Given the description of an element on the screen output the (x, y) to click on. 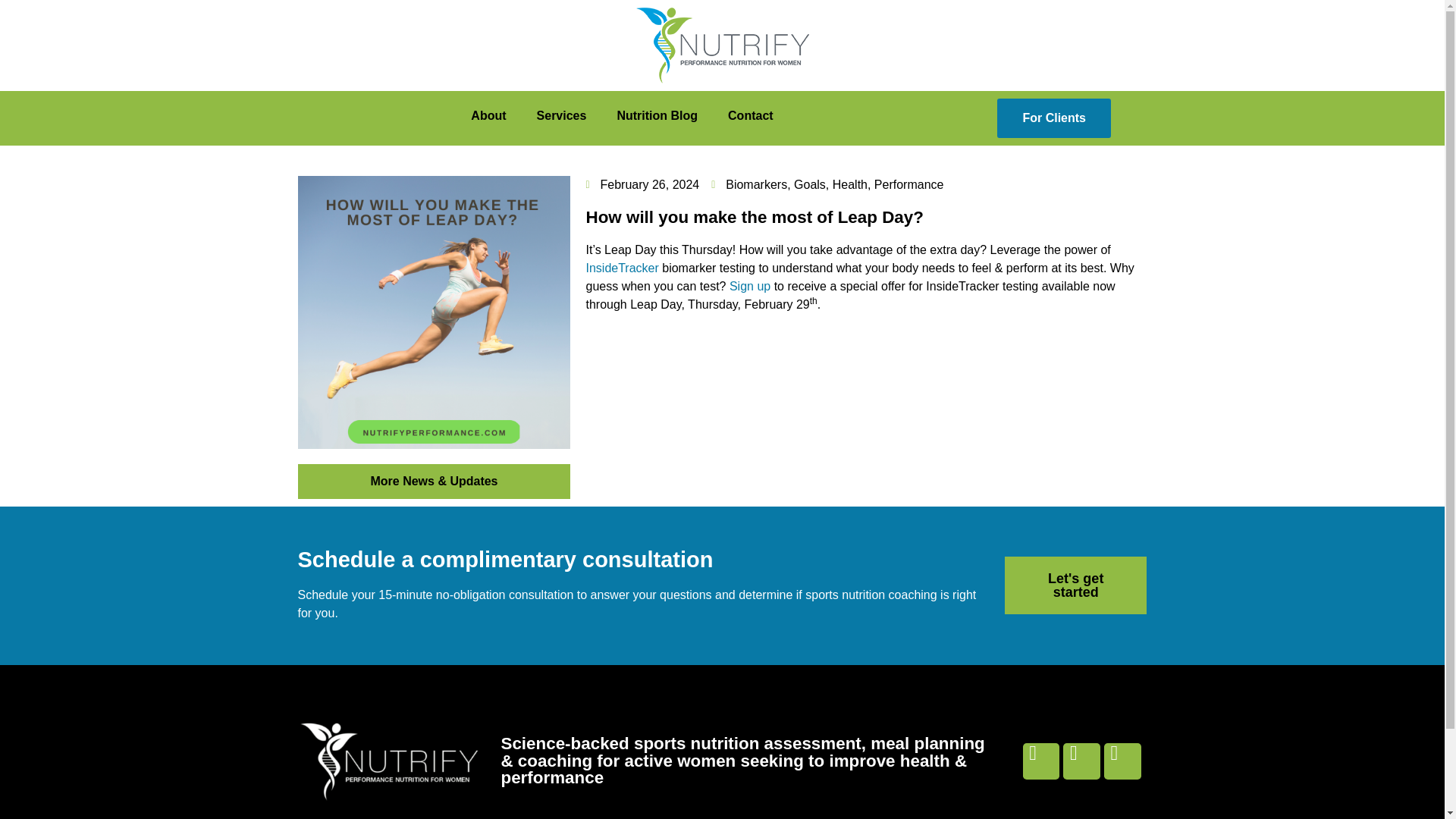
InsideTracker (621, 267)
Sign up (749, 286)
Health (849, 184)
About (488, 115)
Performance (909, 184)
Nutrition Blog (657, 115)
February 26, 2024 (641, 185)
For Clients (1053, 118)
Biomarkers (756, 184)
